Given the description of an element on the screen output the (x, y) to click on. 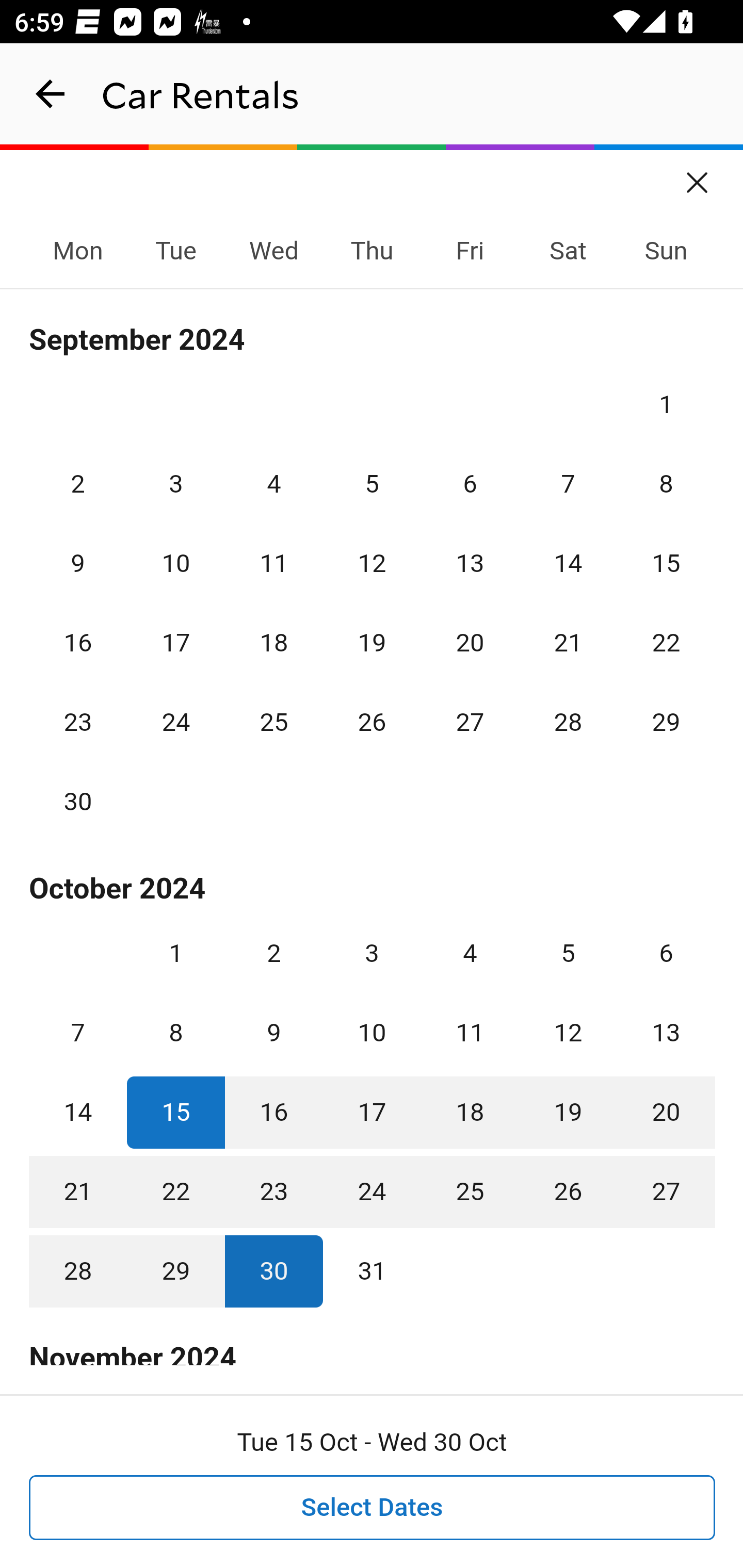
navigation_button (50, 93)
Close (697, 176)
1 September 2024 (665, 404)
2 September 2024 (77, 484)
3 September 2024 (175, 484)
4 September 2024 (273, 484)
5 September 2024 (371, 484)
6 September 2024 (470, 484)
7 September 2024 (567, 484)
8 September 2024 (665, 484)
9 September 2024 (77, 563)
10 September 2024 (175, 563)
11 September 2024 (273, 563)
12 September 2024 (371, 563)
13 September 2024 (470, 563)
14 September 2024 (567, 563)
15 September 2024 (665, 563)
16 September 2024 (77, 642)
17 September 2024 (175, 642)
18 September 2024 (273, 642)
19 September 2024 (371, 642)
20 September 2024 (470, 642)
21 September 2024 (567, 642)
22 September 2024 (665, 642)
23 September 2024 (77, 722)
24 September 2024 (175, 722)
25 September 2024 (273, 722)
26 September 2024 (371, 722)
27 September 2024 (470, 722)
28 September 2024 (567, 722)
29 September 2024 (665, 722)
30 September 2024 (77, 801)
1 October 2024 (175, 952)
2 October 2024 (273, 952)
3 October 2024 (371, 952)
4 October 2024 (470, 952)
5 October 2024 (567, 952)
6 October 2024 (665, 952)
7 October 2024 (77, 1032)
8 October 2024 (175, 1032)
9 October 2024 (273, 1032)
10 October 2024 (371, 1032)
11 October 2024 (470, 1032)
12 October 2024 (567, 1032)
13 October 2024 (665, 1032)
14 October 2024 (77, 1112)
15 October 2024 (175, 1112)
16 October 2024 (273, 1112)
17 October 2024 (371, 1112)
18 October 2024 (470, 1112)
